Given the description of an element on the screen output the (x, y) to click on. 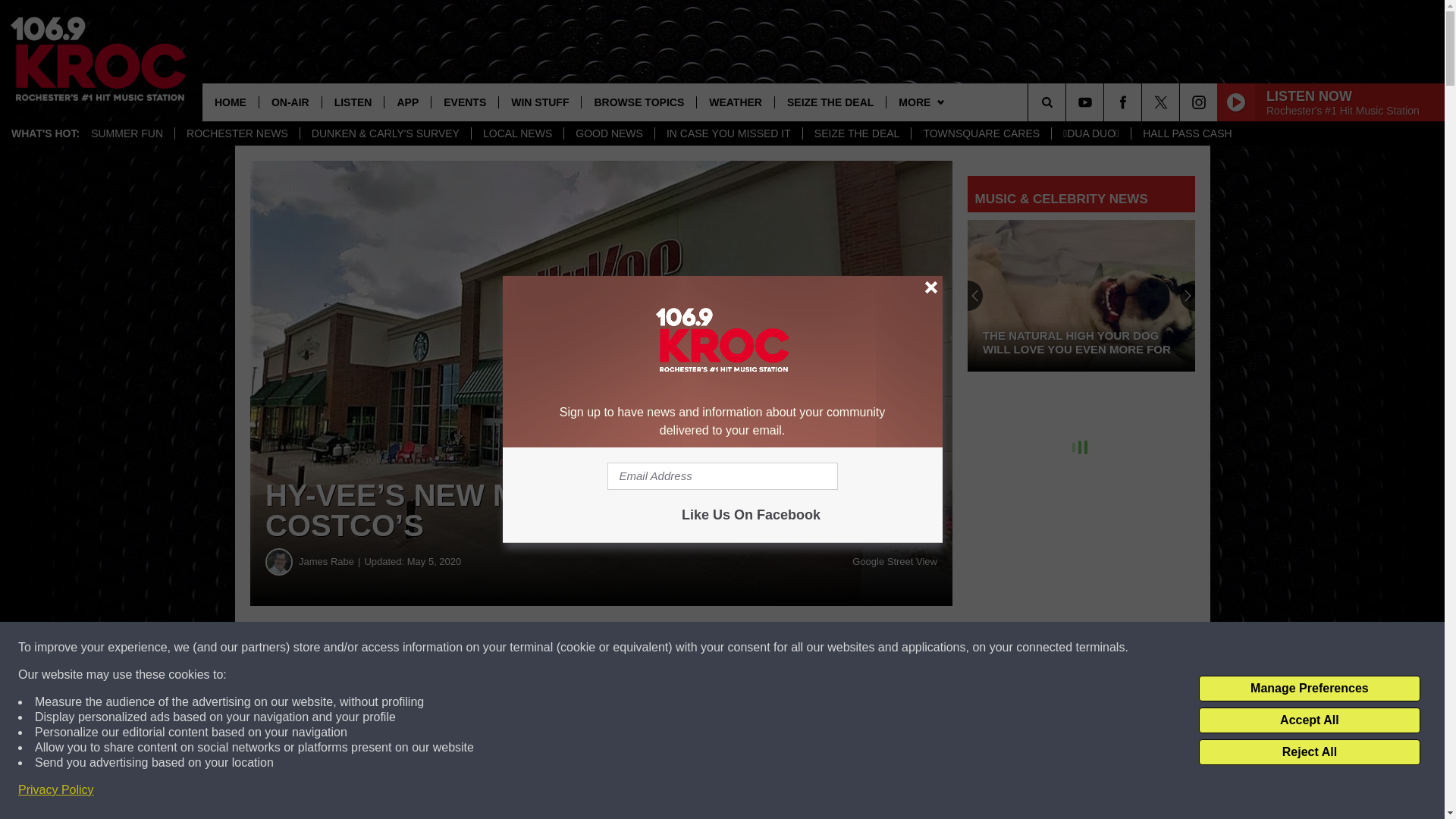
Reject All (1309, 751)
SEIZE THE DEAL (856, 133)
GOOD NEWS (608, 133)
Share on Twitter (741, 647)
HALL PASS CASH (1187, 133)
IN CASE YOU MISSED IT (727, 133)
TOWNSQUARE CARES (981, 133)
SEARCH (1068, 102)
APP (407, 102)
LISTEN (352, 102)
SUMMER FUN (127, 133)
SEARCH (1068, 102)
Privacy Policy (55, 789)
Share on Facebook (460, 647)
LOCAL NEWS (516, 133)
